Given the description of an element on the screen output the (x, y) to click on. 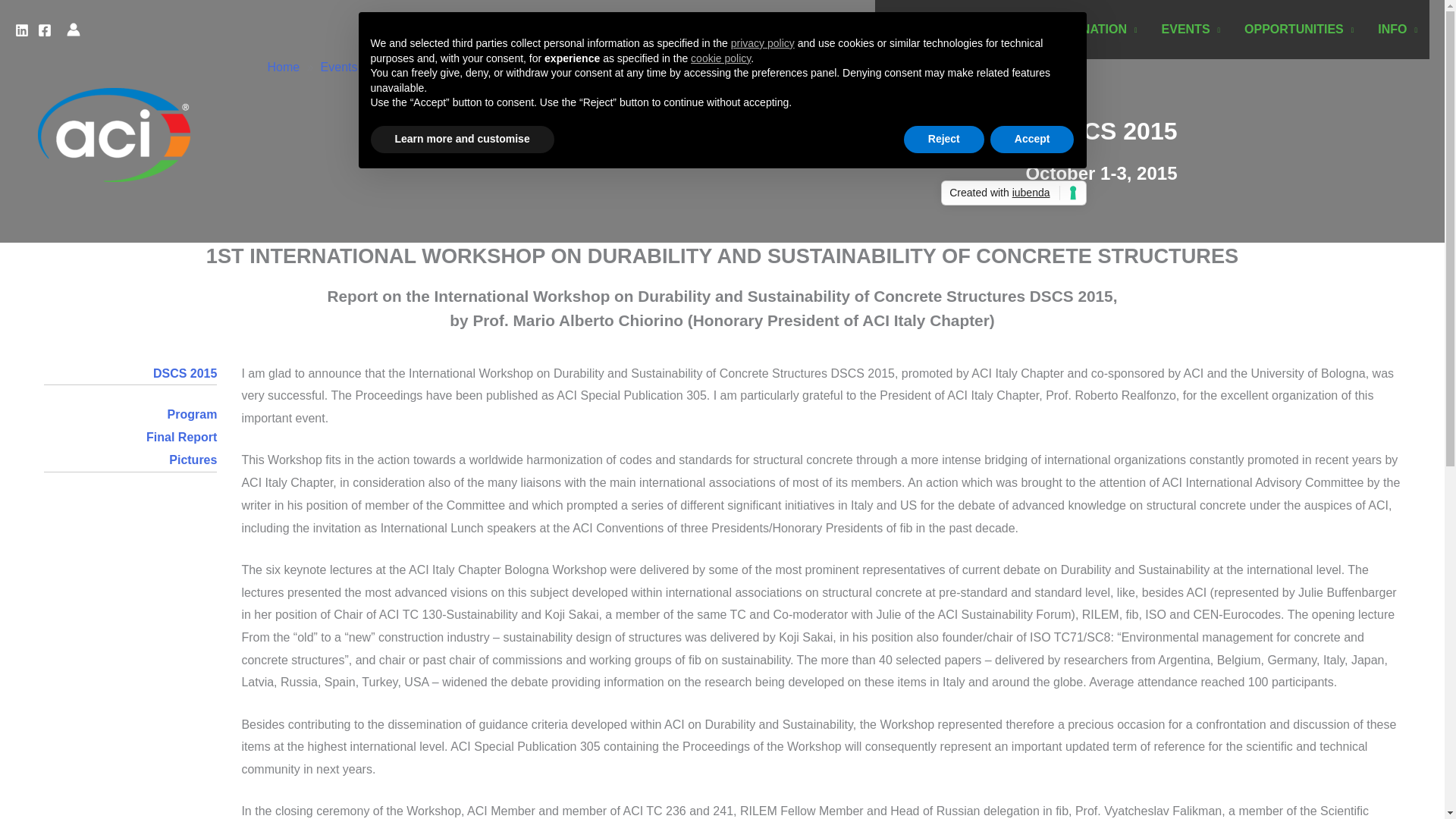
EVENTS (1191, 29)
PEOPLE (977, 29)
DISSEMINATION (1083, 29)
HOME (905, 29)
iubenda - Cookie Policy and Cookie Compliance Management (1013, 193)
